Given the description of an element on the screen output the (x, y) to click on. 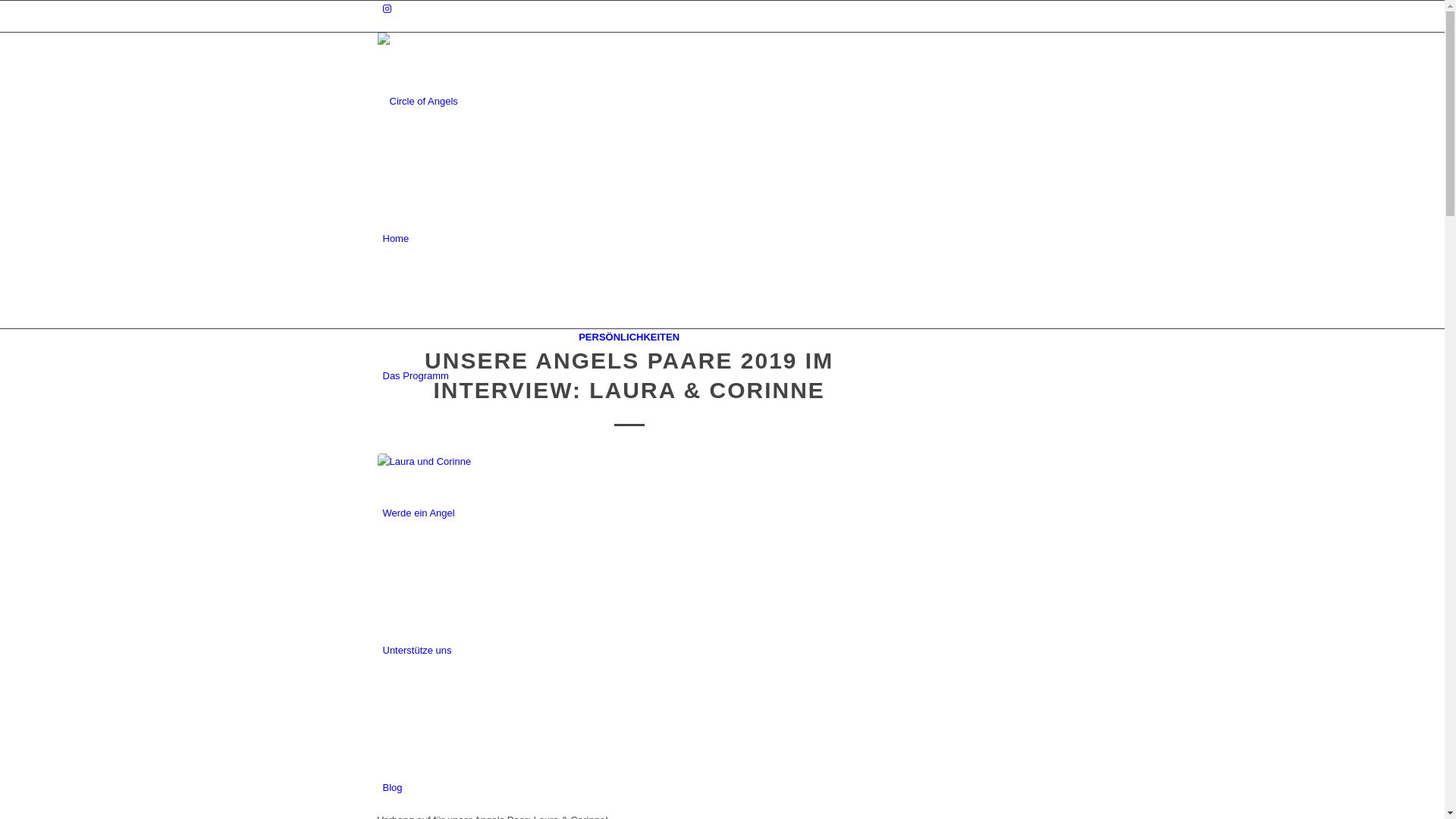
Circles of Angels Element type: hover (491, 70)
Instagram Element type: hover (386, 8)
Blog Element type: text (391, 787)
Home Element type: text (395, 238)
Laura und Corinne_Post Interview Element type: hover (629, 624)
Werde ein Angel Element type: text (418, 512)
Das Programm Element type: text (415, 375)
